Given the description of an element on the screen output the (x, y) to click on. 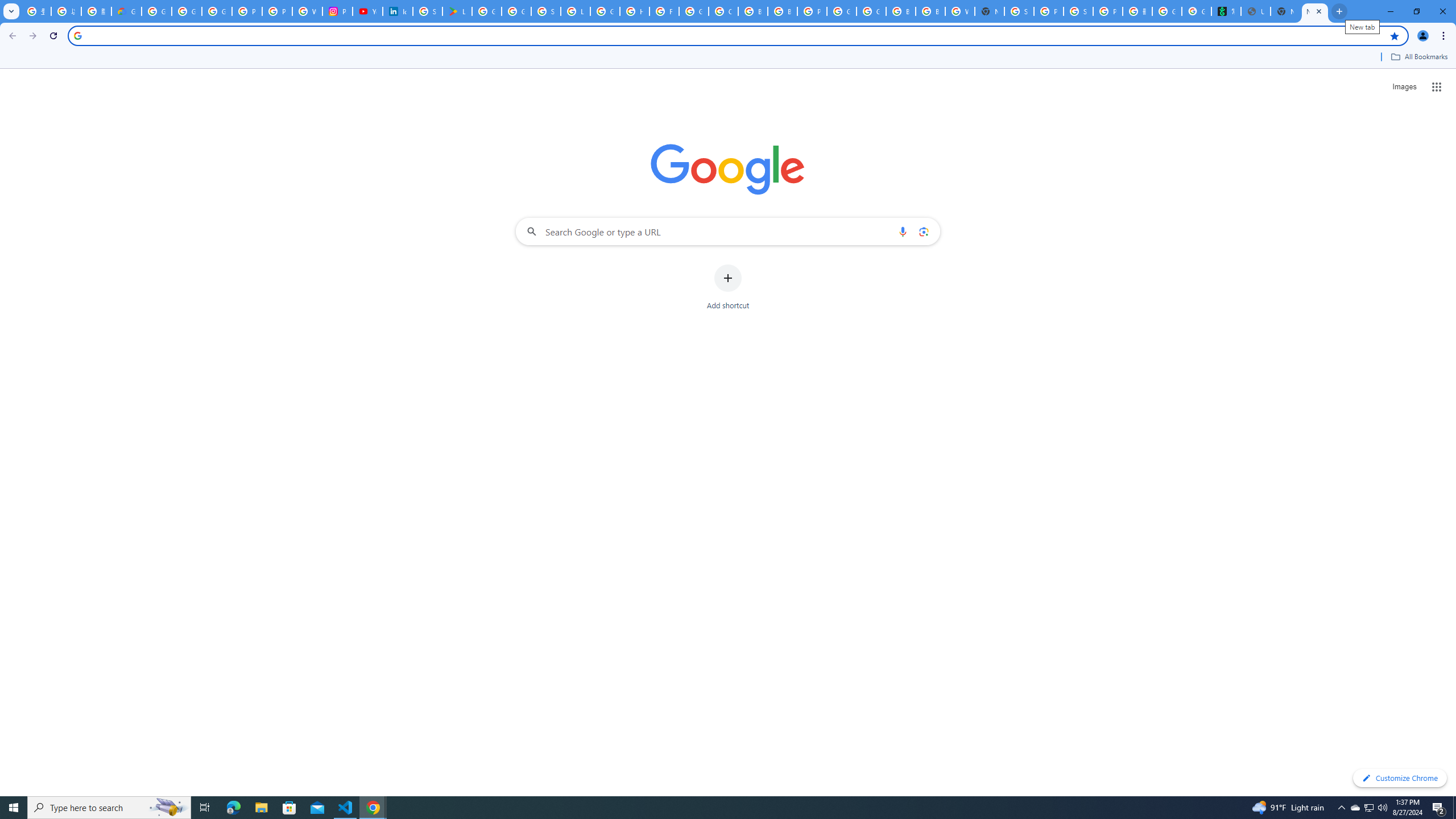
Browse Chrome as a guest - Computer - Google Chrome Help (900, 11)
